Given the description of an element on the screen output the (x, y) to click on. 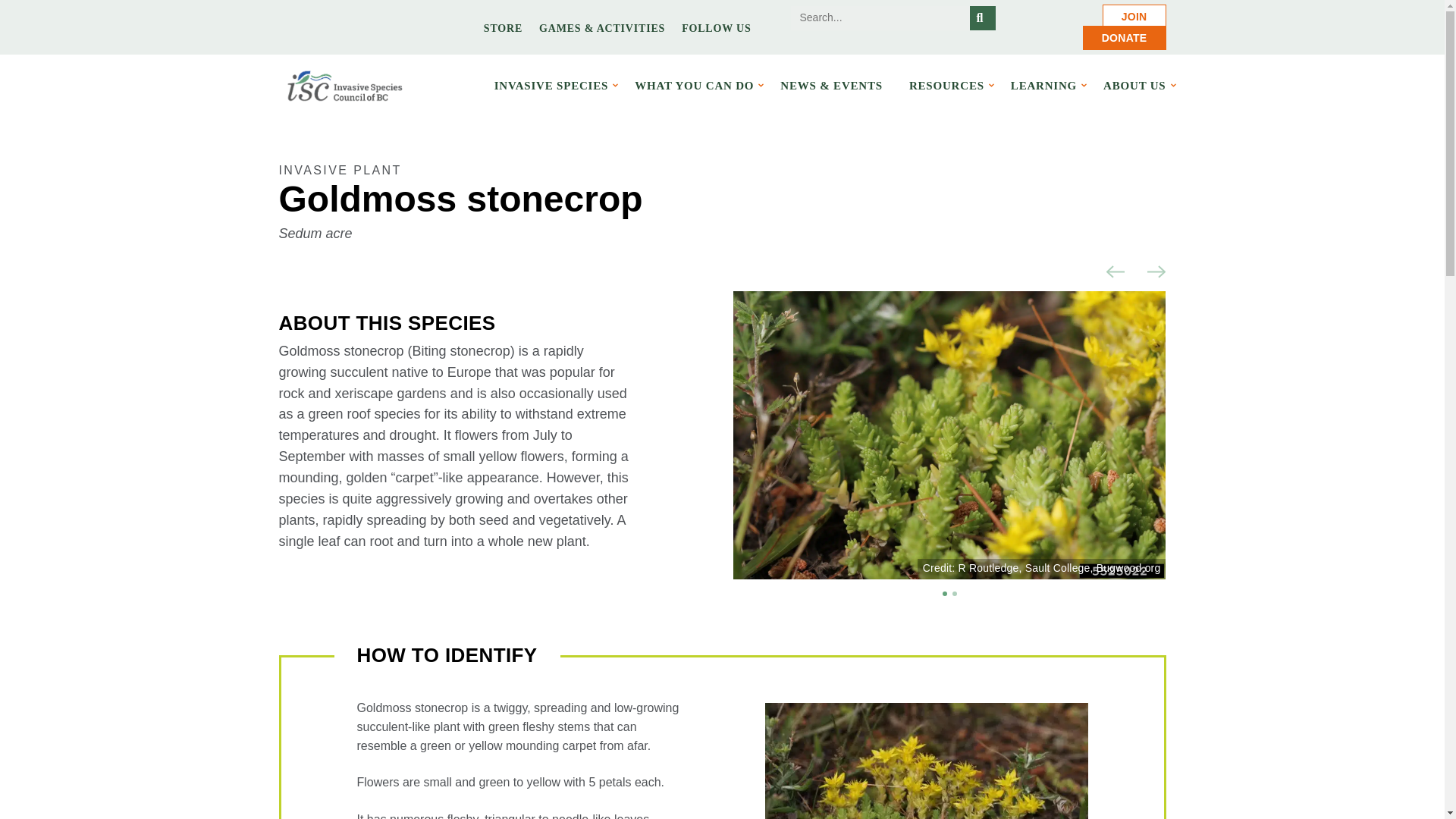
FOLLOW US (716, 27)
STORE (502, 27)
